Given the description of an element on the screen output the (x, y) to click on. 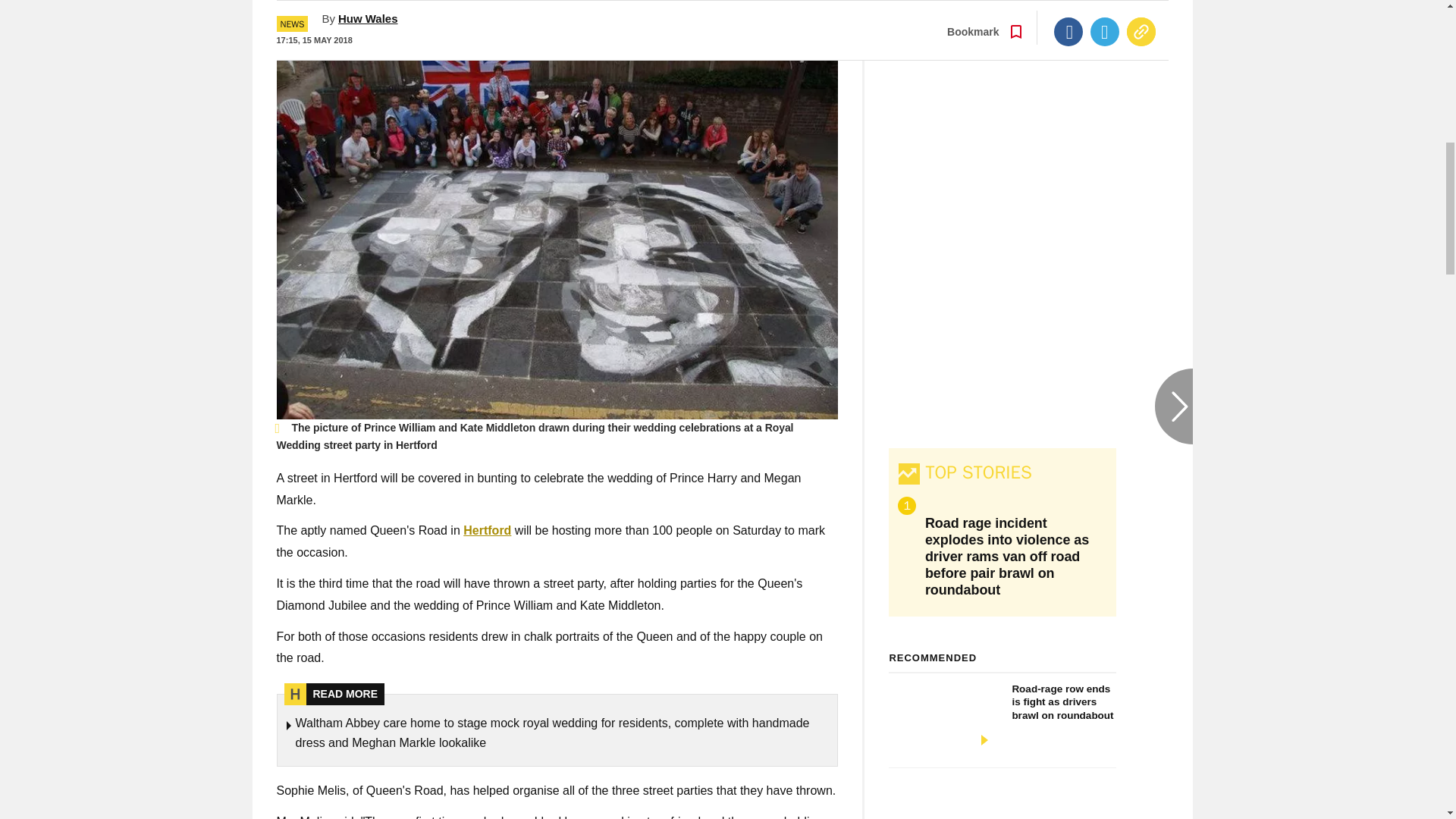
Go (730, 12)
